Given the description of an element on the screen output the (x, y) to click on. 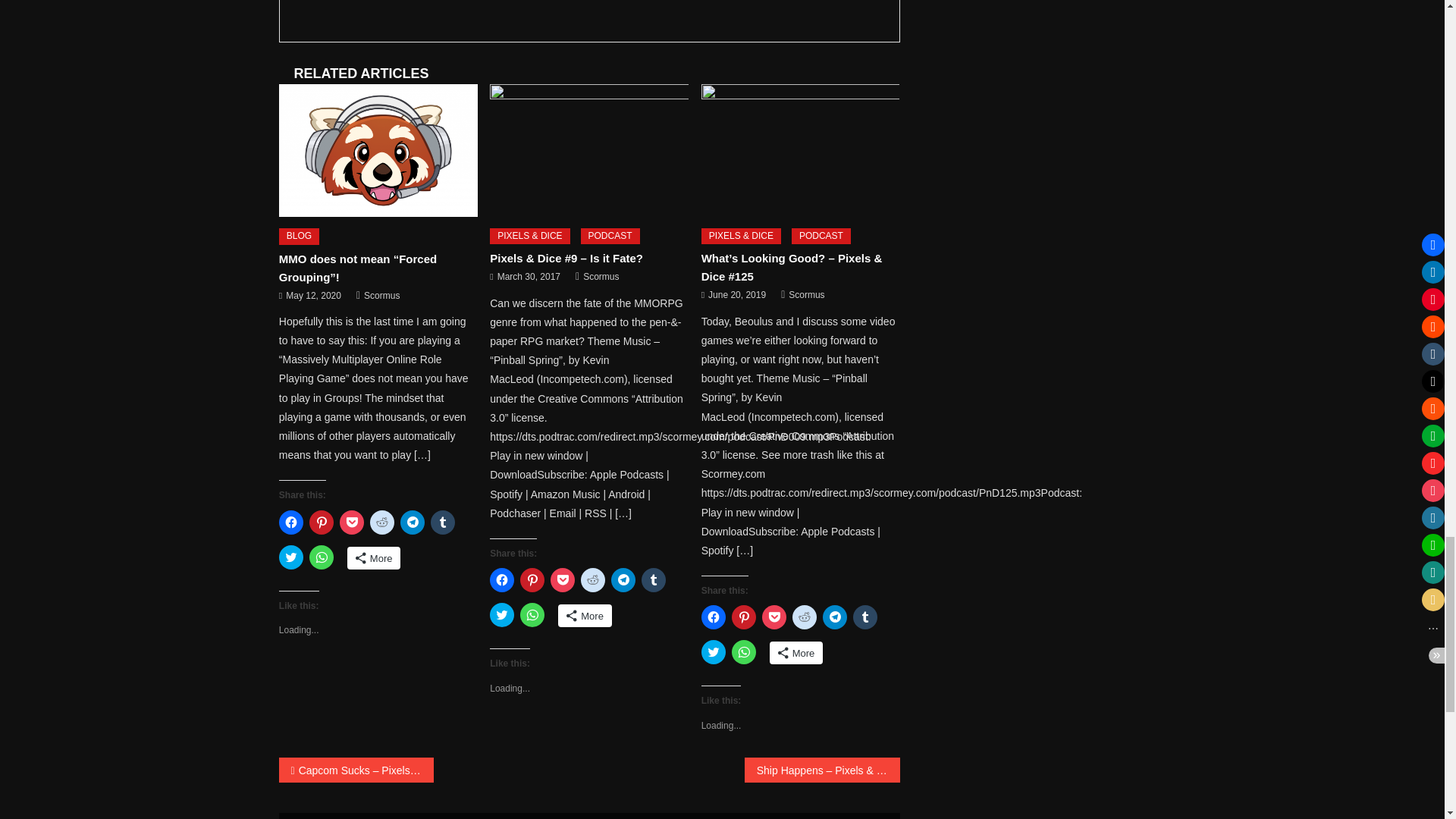
Click to share on Reddit (381, 522)
Click to share on Telegram (412, 522)
Click to share on Tumblr (442, 522)
Click to share on Pocket (351, 522)
Click to share on Pinterest (320, 522)
Click to share on Twitter (290, 557)
Click to share on Facebook (290, 522)
